Given the description of an element on the screen output the (x, y) to click on. 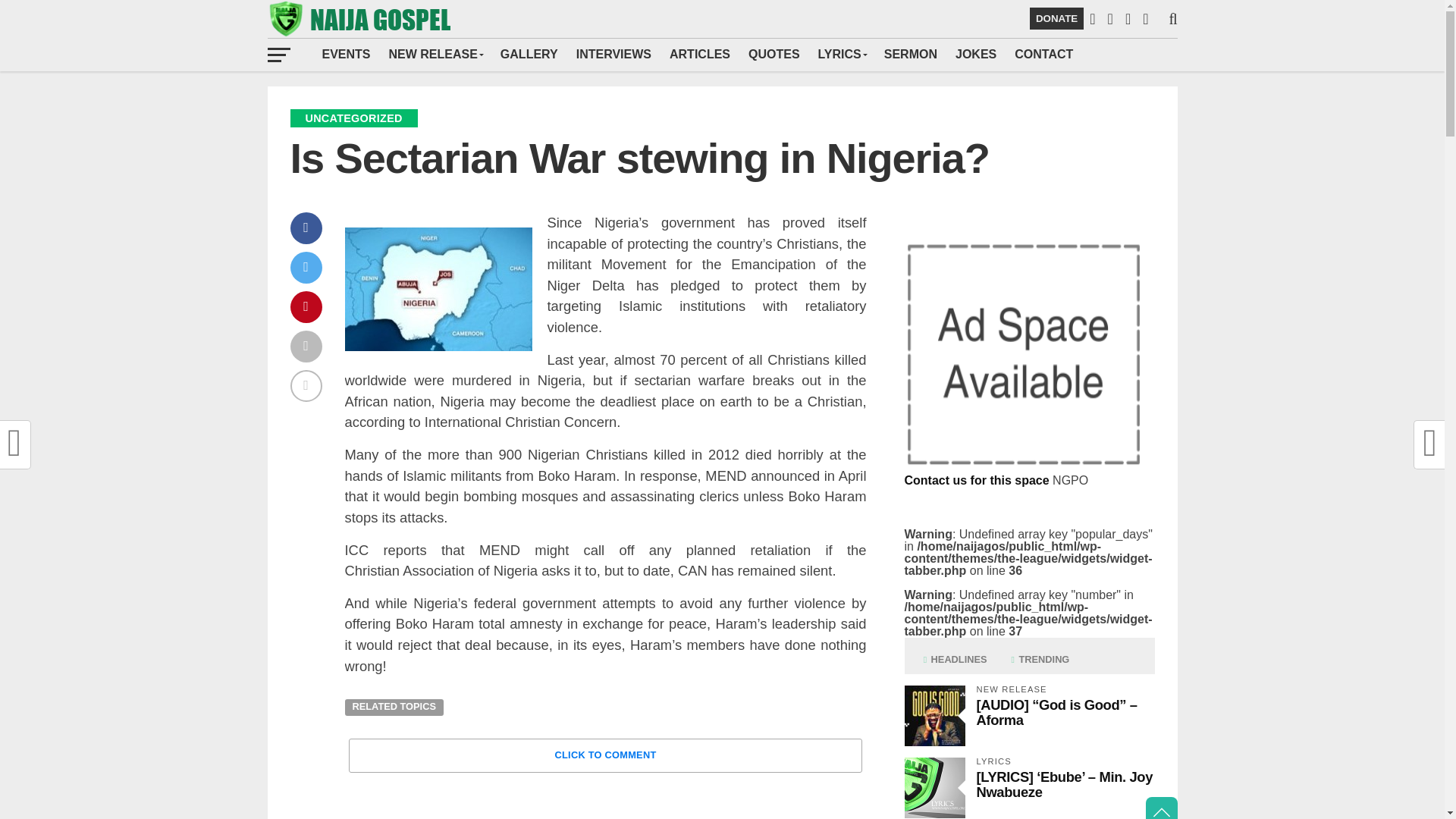
QUOTES (774, 54)
INTERVIEWS (614, 54)
ARTICLES (700, 54)
One on one (614, 54)
LYRICS (842, 54)
DONATE (1056, 17)
NEW RELEASE (436, 54)
DONATE (1056, 18)
JOKES (976, 54)
Latest Download (436, 54)
